Given the description of an element on the screen output the (x, y) to click on. 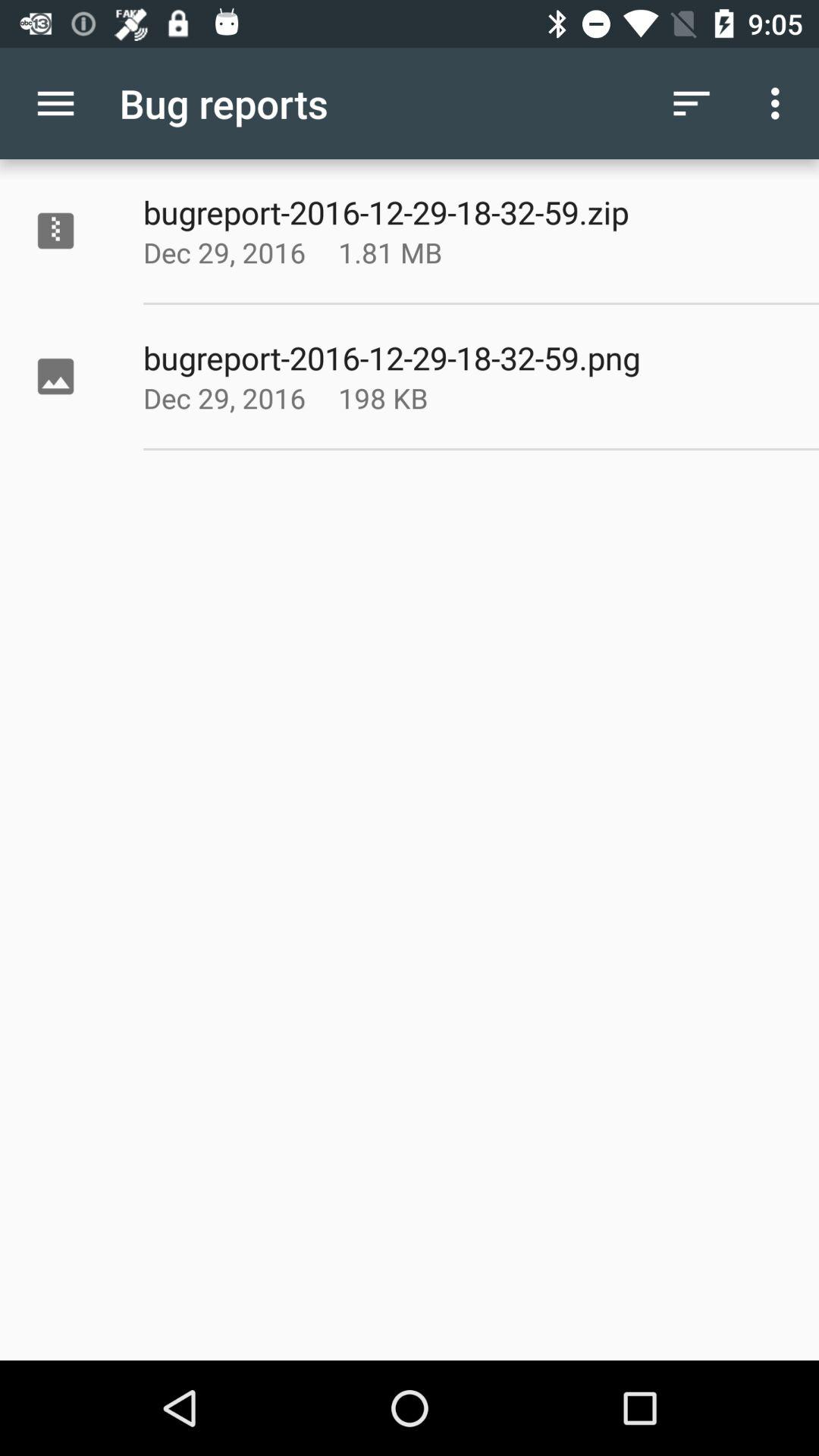
turn off the item next to dec 29, 2016 (427, 252)
